Given the description of an element on the screen output the (x, y) to click on. 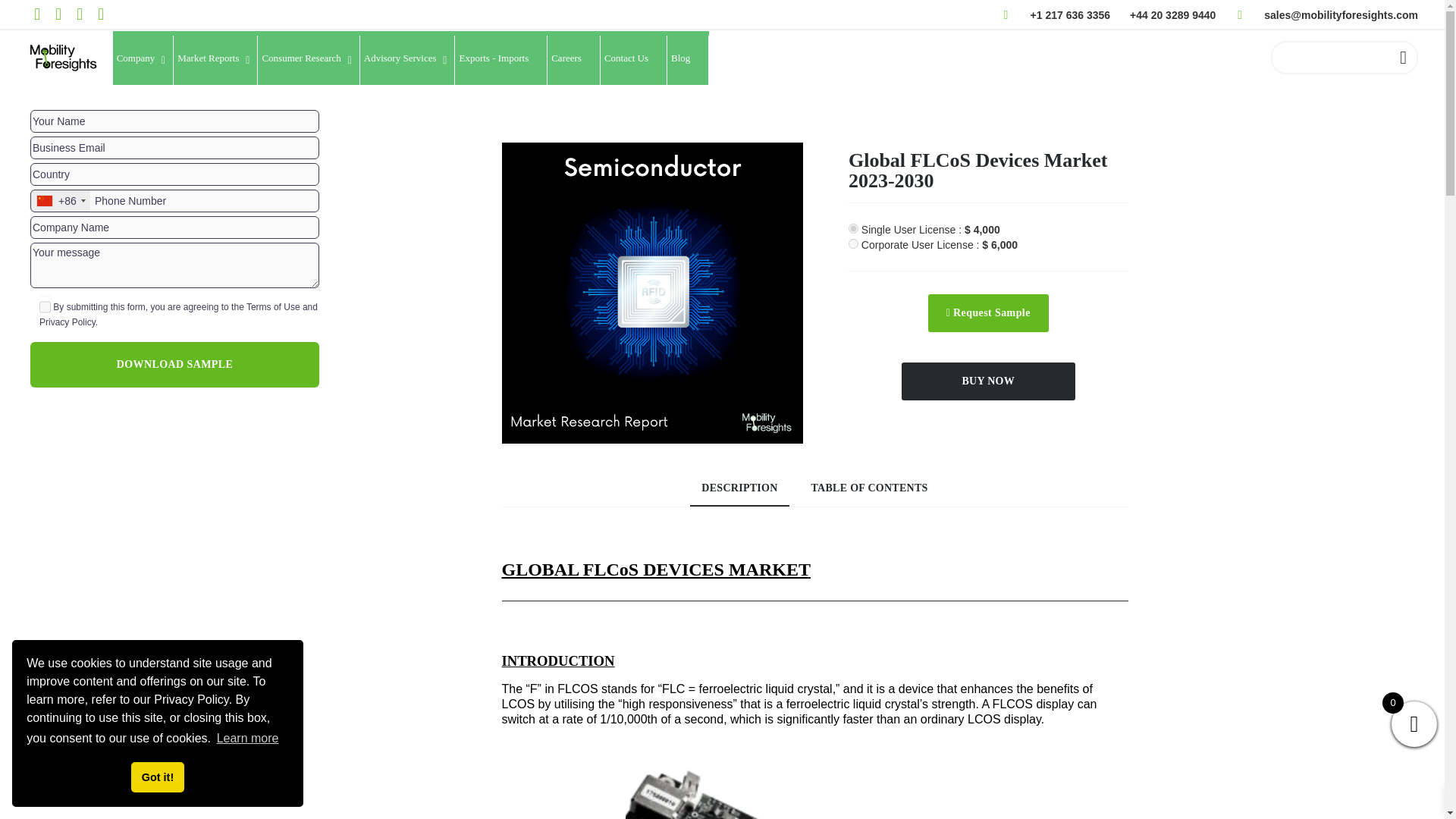
6000 (853, 243)
Global FLCoS Devices Market 2023-2030 1 (814, 784)
Global FLCoS Devices Market 2023-2030 (652, 292)
Company (143, 60)
Market Reports (215, 60)
4000.00 (853, 228)
DOWNLOAD SAMPLE (174, 364)
